Given the description of an element on the screen output the (x, y) to click on. 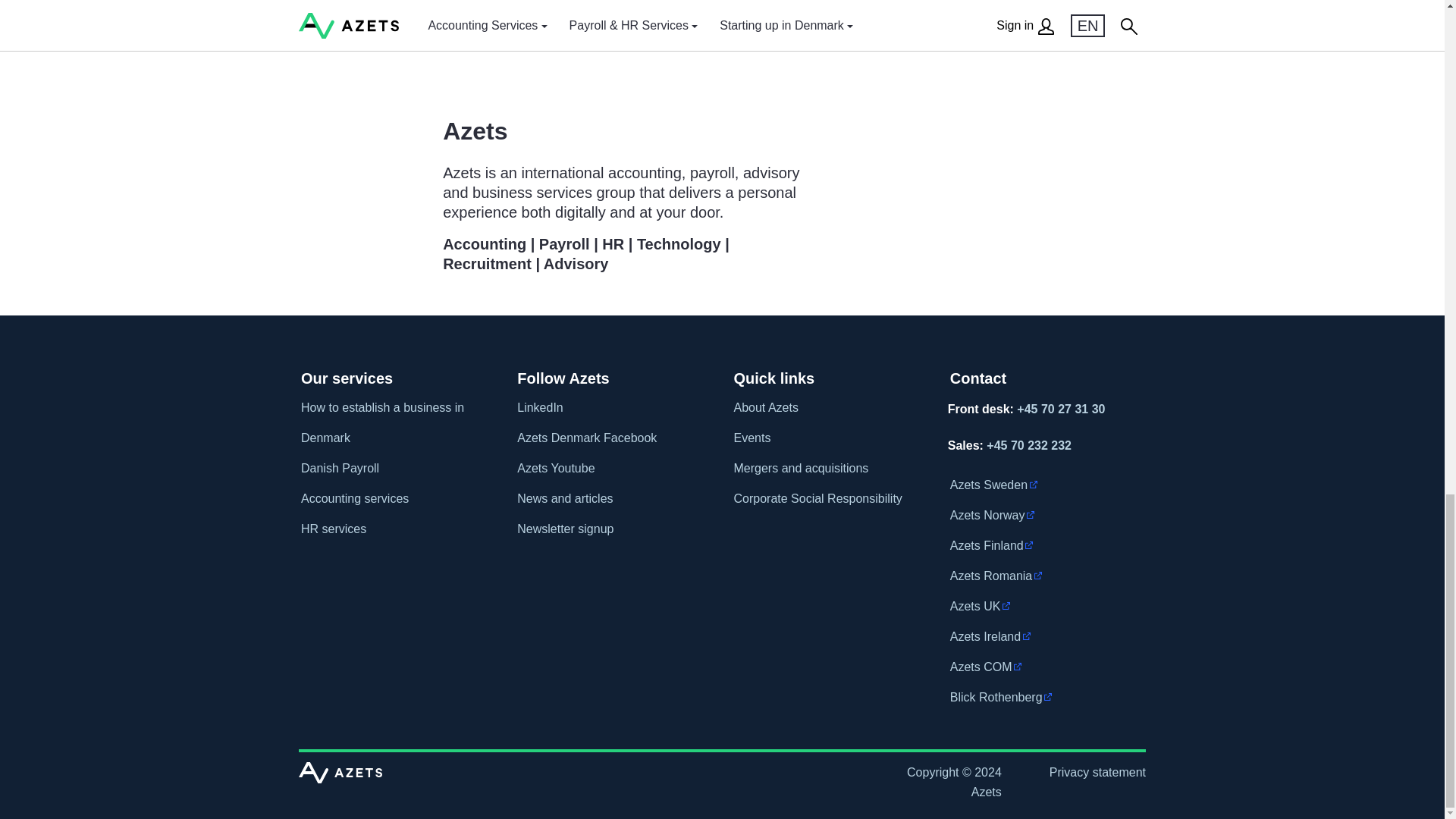
DOWNLOAD (812, 3)
Azets Denmark Facebook (609, 438)
Events (825, 438)
About Azets (825, 408)
Azets Youtube (609, 468)
Danish Payroll (392, 468)
Newsletter signup (609, 529)
Mergers and acquisitions (825, 468)
How to establish a business in Denmark (392, 423)
News and articles (609, 499)
